Given the description of an element on the screen output the (x, y) to click on. 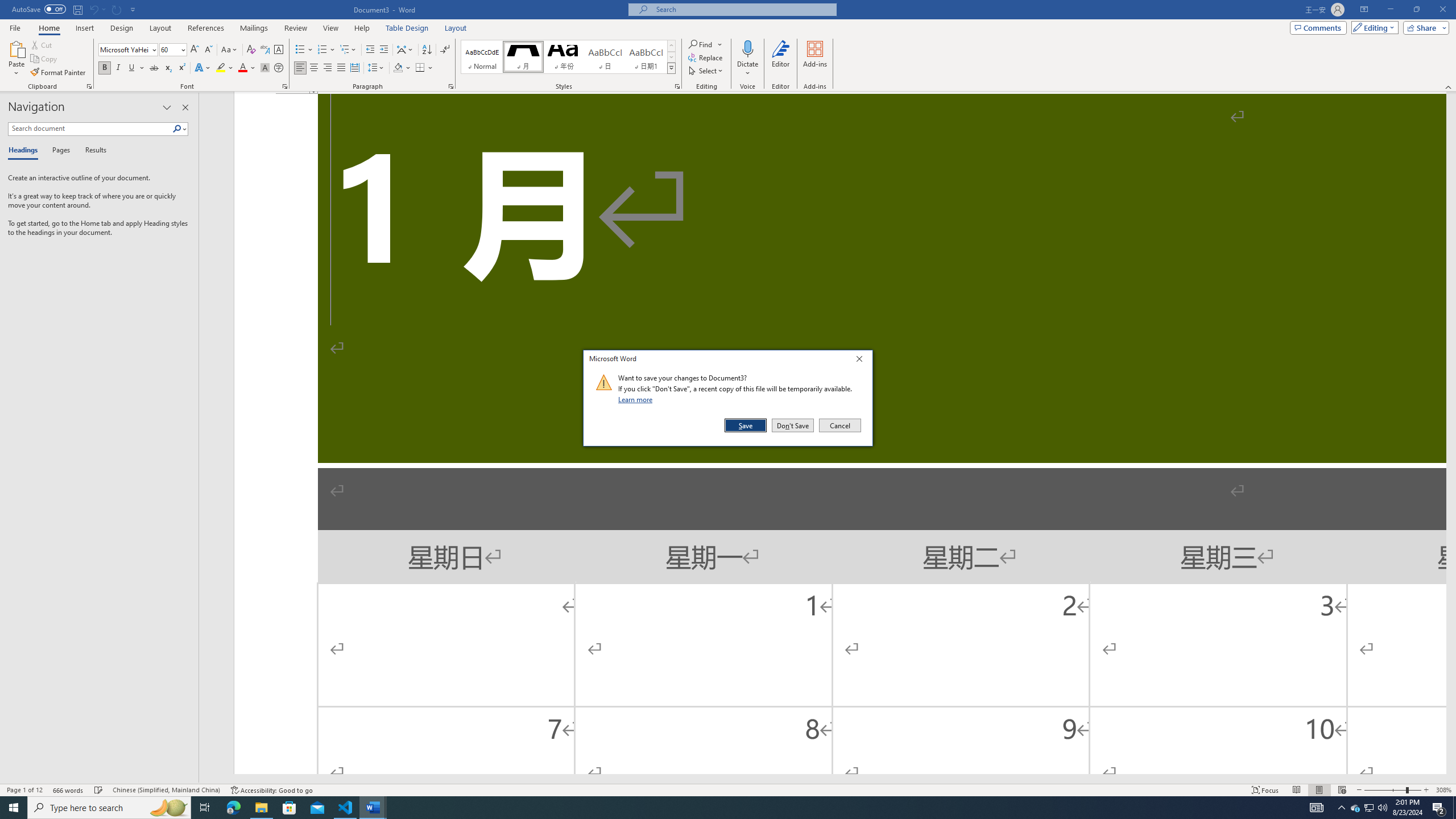
User Promoted Notification Area (1368, 807)
Paste (16, 48)
Font Color (246, 67)
Class: NetUIImage (603, 382)
Header -Section 1- (839, 92)
Collapse the Ribbon (1448, 86)
Design (122, 28)
Paste (16, 58)
Ribbon Display Options (1364, 9)
Office Clipboard... (88, 85)
Running applications (717, 807)
Strikethrough (154, 67)
